Given the description of an element on the screen output the (x, y) to click on. 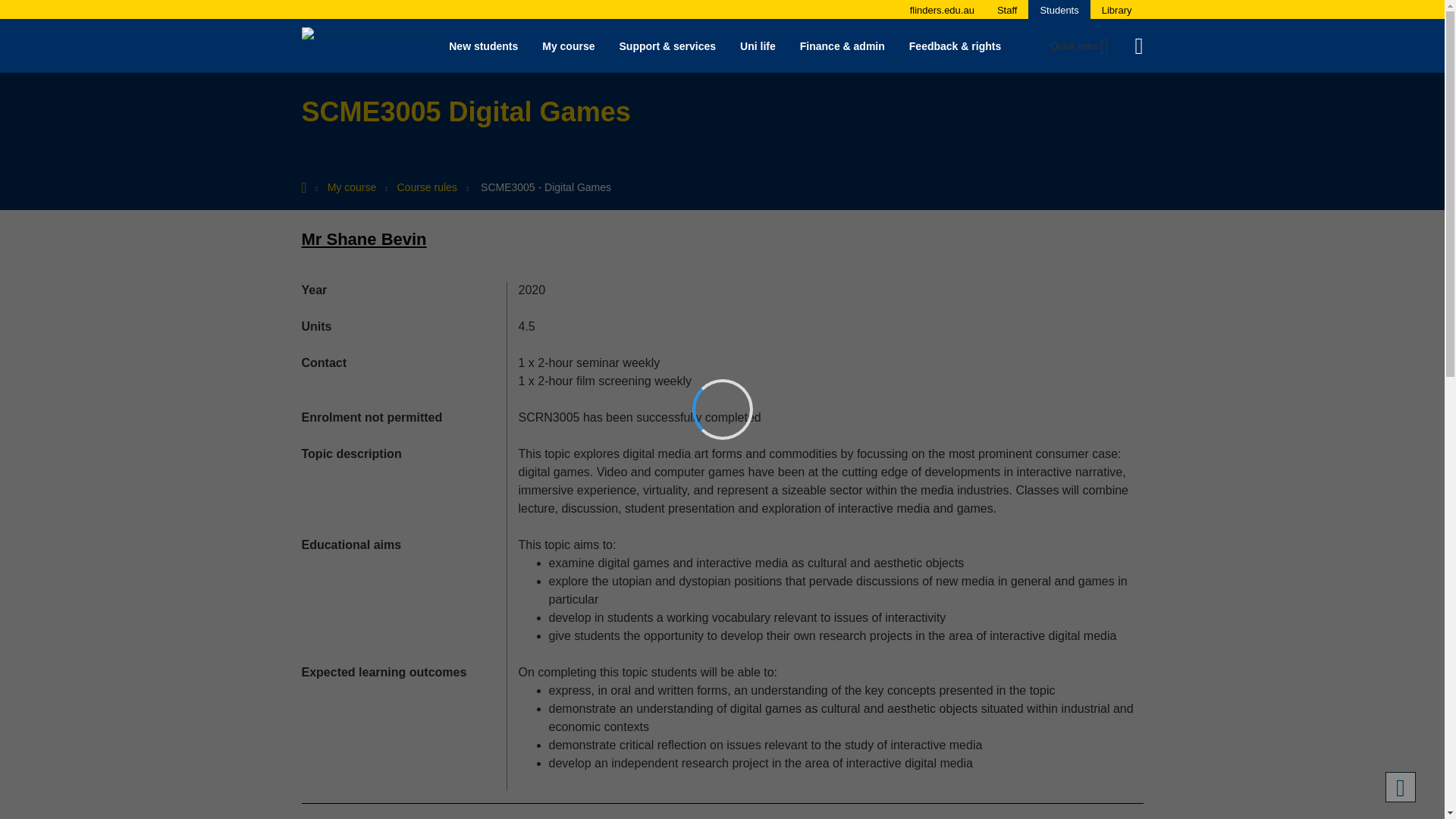
flinders.edu.au (942, 9)
Students (1058, 9)
My course (568, 45)
Staff (1007, 9)
New students (482, 45)
Library (1117, 9)
Back to top (1400, 787)
